Given the description of an element on the screen output the (x, y) to click on. 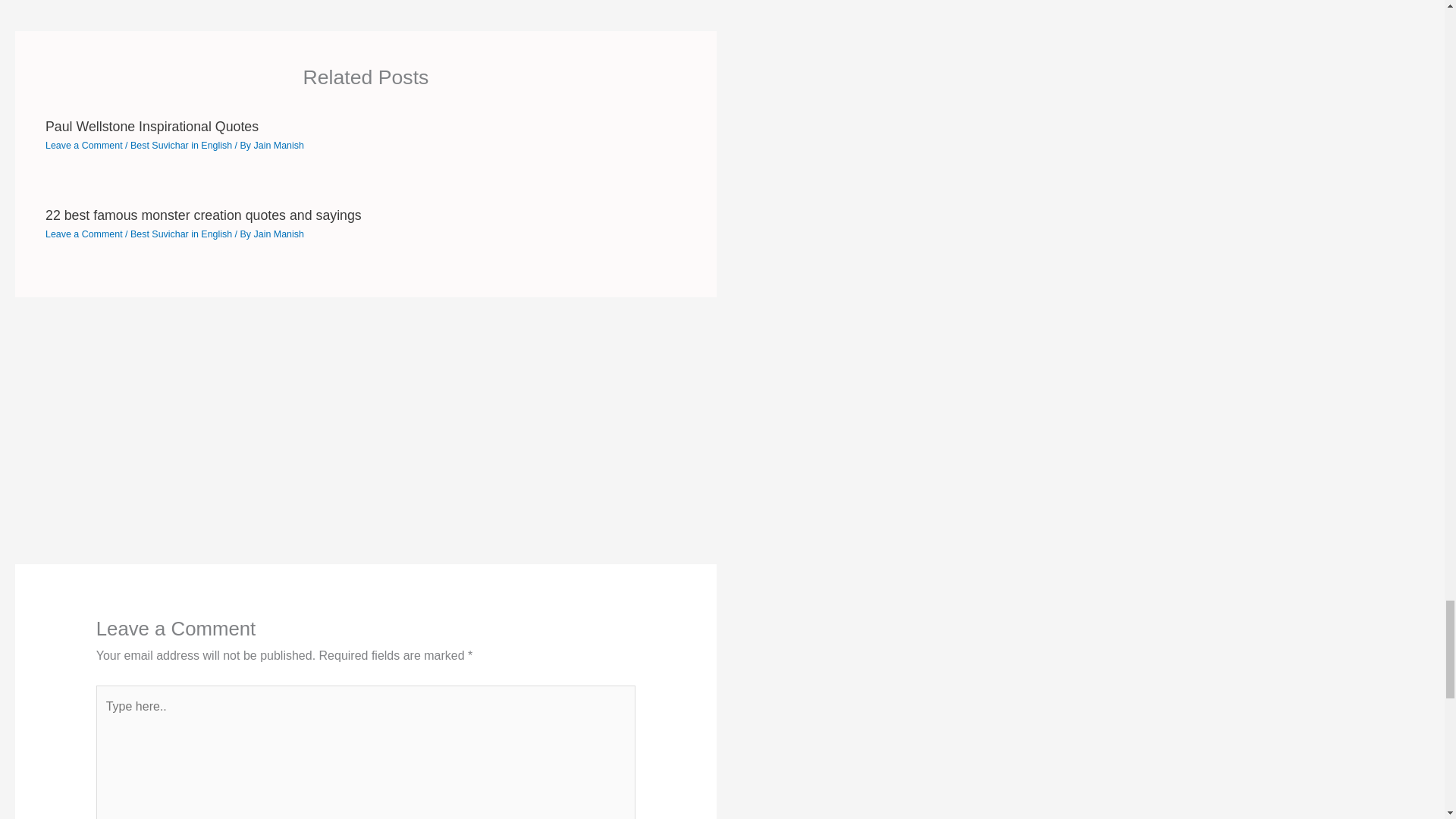
33 Small steps quotes to make the big impact in life (61, 2)
View all posts by Jain Manish (277, 234)
View all posts by Jain Manish (277, 145)
21 Succulent quotes and captions (680, 2)
